Given the description of an element on the screen output the (x, y) to click on. 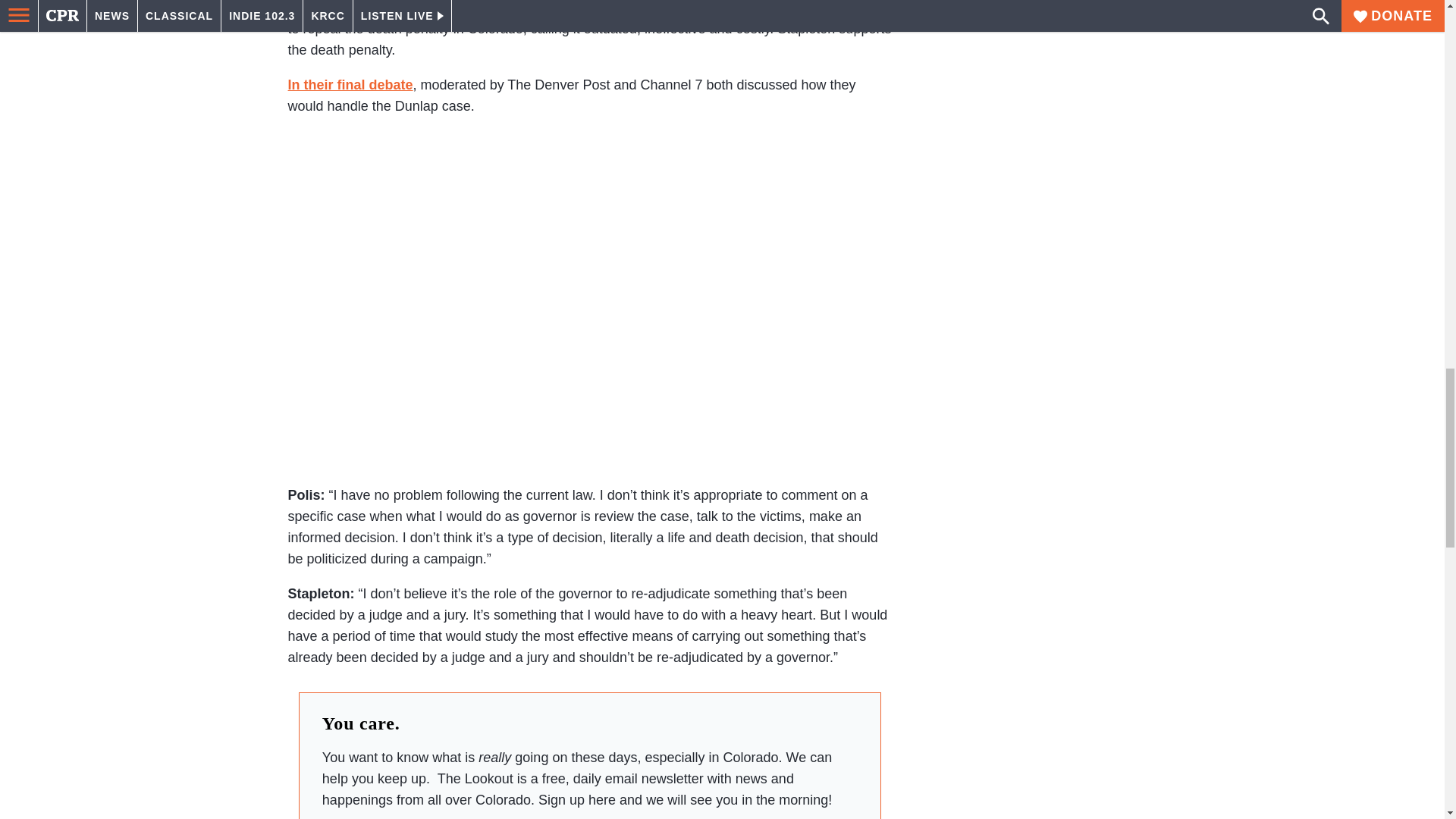
newsArticleSignup (589, 814)
